Given the description of an element on the screen output the (x, y) to click on. 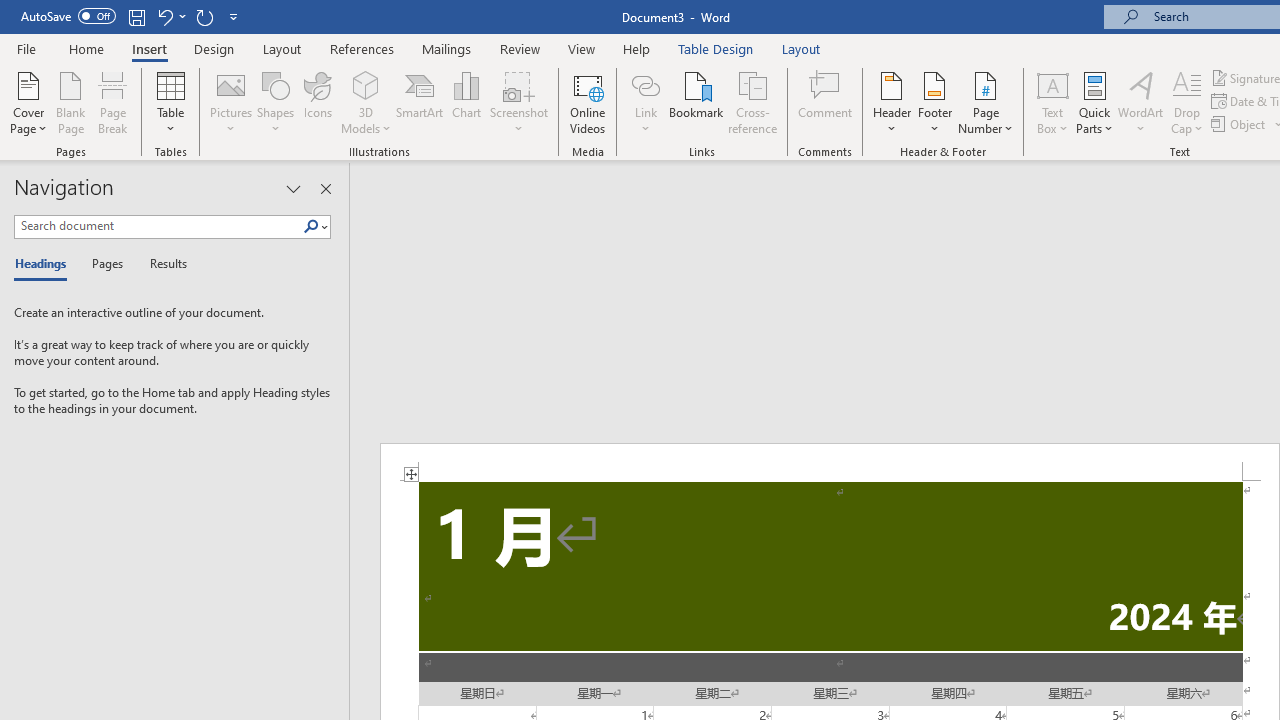
Header (891, 102)
Results (161, 264)
Search (311, 227)
Class: NetUIImage (311, 226)
Shapes (275, 102)
3D Models (366, 84)
Search (315, 227)
Close pane (325, 188)
Text Box (1052, 102)
Table Design (715, 48)
Review (520, 48)
Repeat Doc Close (204, 15)
Customize Quick Access Toolbar (234, 15)
Link (645, 84)
Cross-reference... (752, 102)
